Given the description of an element on the screen output the (x, y) to click on. 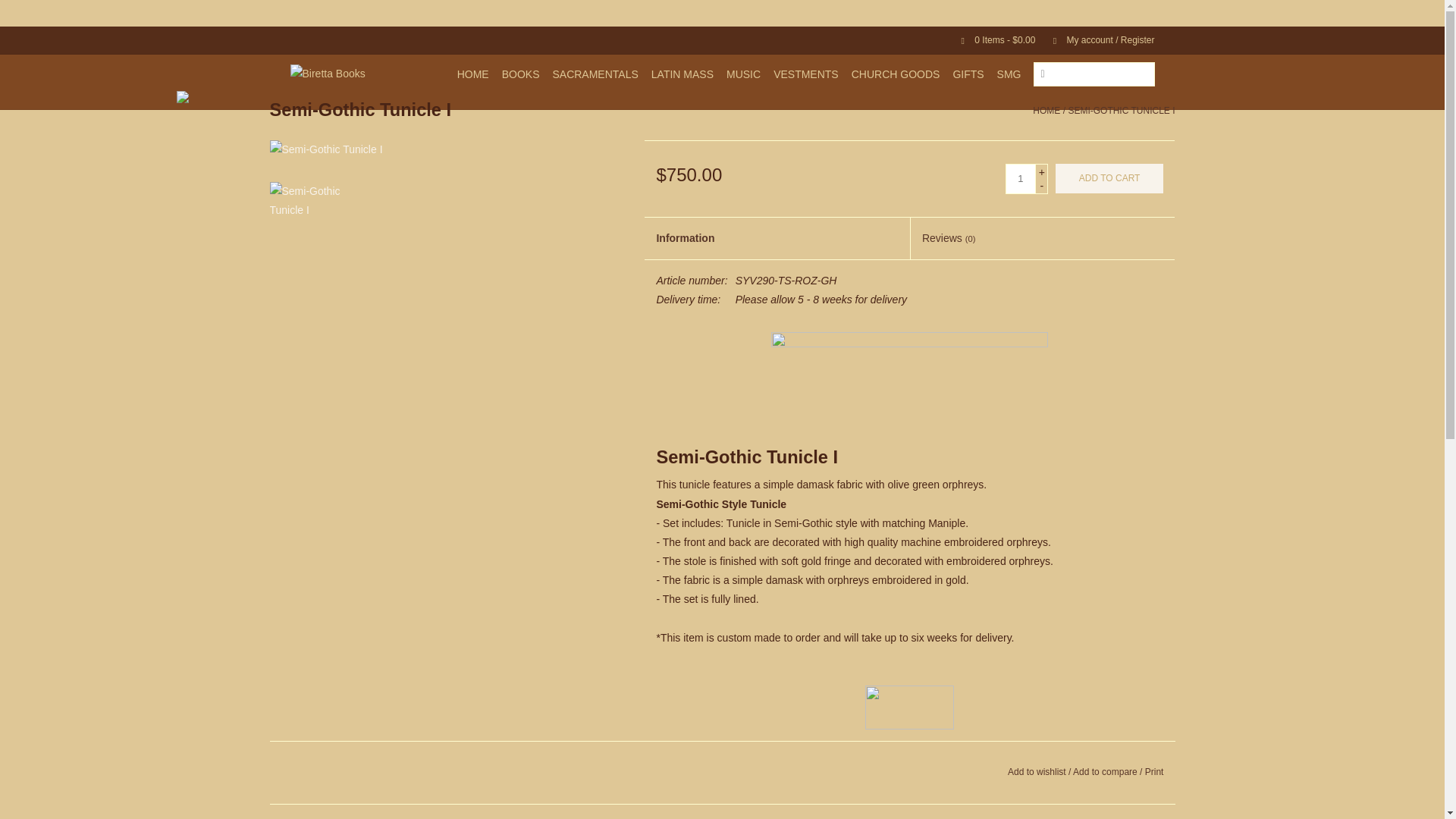
Biretta Books (330, 73)
Cart (992, 40)
VESTMENTS (805, 74)
1 (1020, 178)
CHURCH GOODS (895, 74)
Books (520, 74)
SACRAMENTALS (594, 74)
My account (1096, 40)
HOME (472, 74)
BOOKS (520, 74)
